Given the description of an element on the screen output the (x, y) to click on. 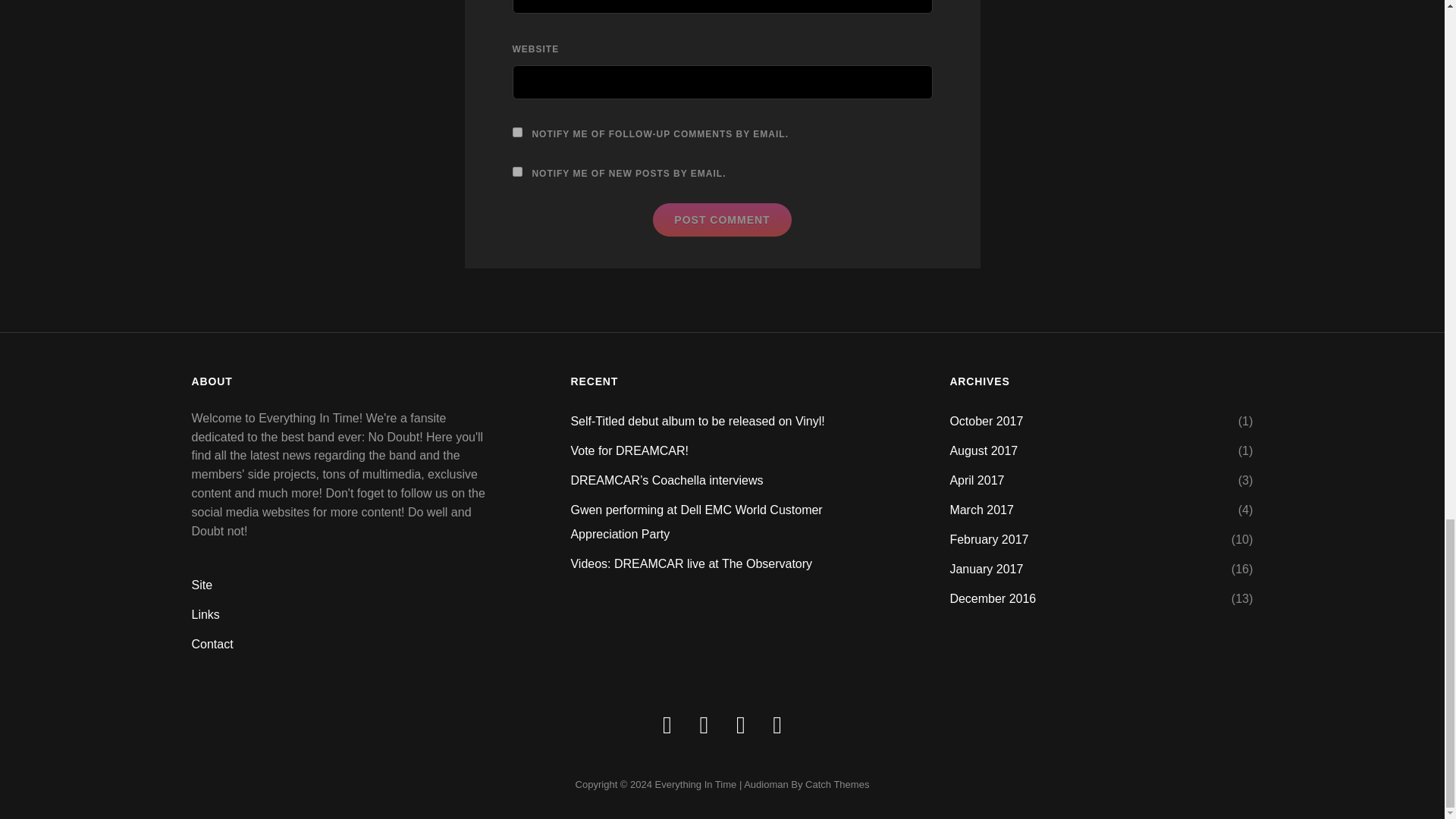
Post Comment (721, 219)
subscribe (517, 171)
Site (201, 584)
Contact (211, 644)
Vote for DREAMCAR! (629, 450)
subscribe (517, 132)
Self-Titled debut album to be released on Vinyl! (697, 420)
Post Comment (721, 219)
Links (204, 614)
